Given the description of an element on the screen output the (x, y) to click on. 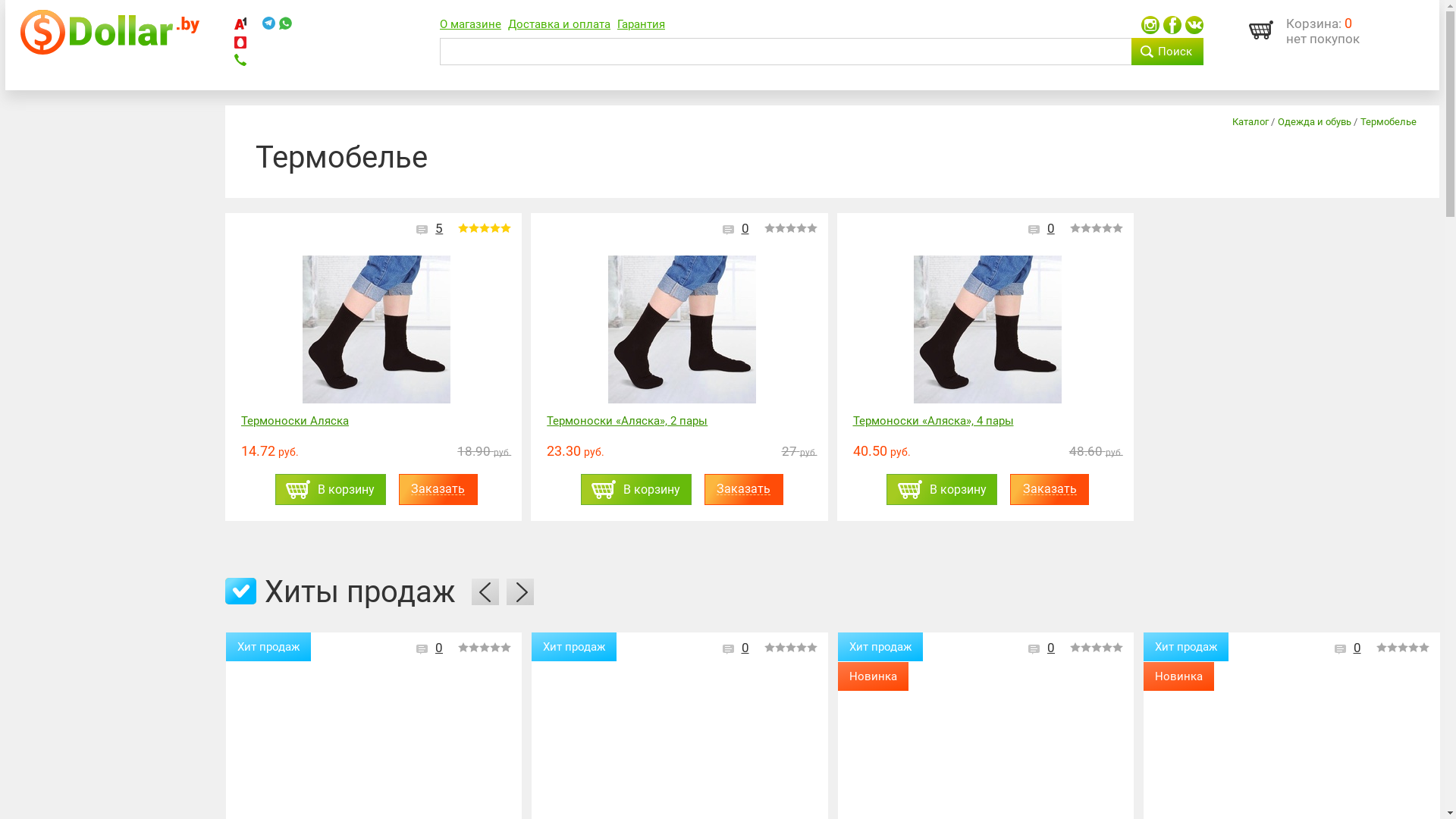
0 Element type: text (1050, 227)
5 Element type: text (438, 227)
0 Element type: text (745, 227)
